Given the description of an element on the screen output the (x, y) to click on. 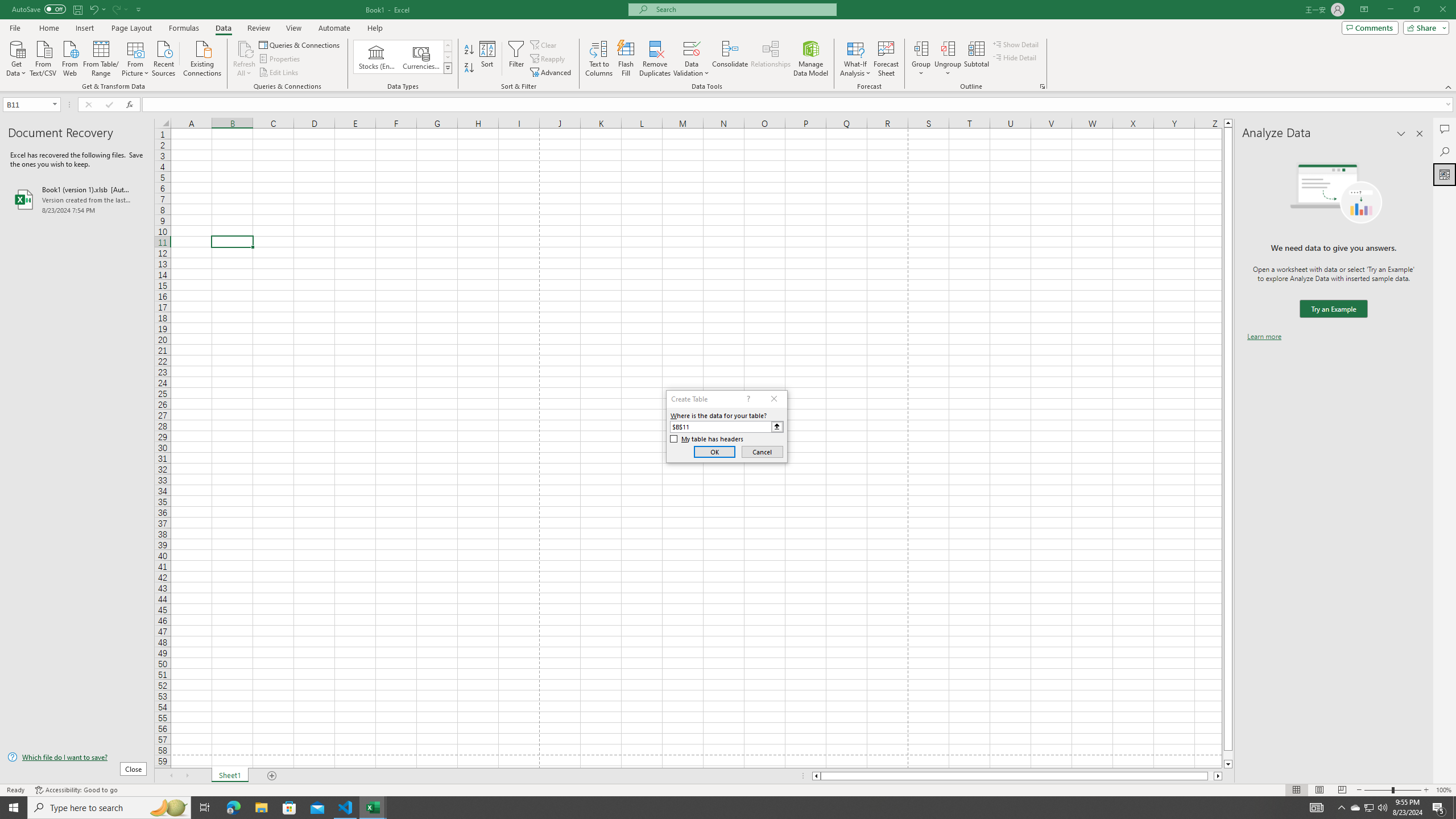
Sort Z to A (469, 67)
Relationships (770, 58)
Learn more (1264, 336)
